Given the description of an element on the screen output the (x, y) to click on. 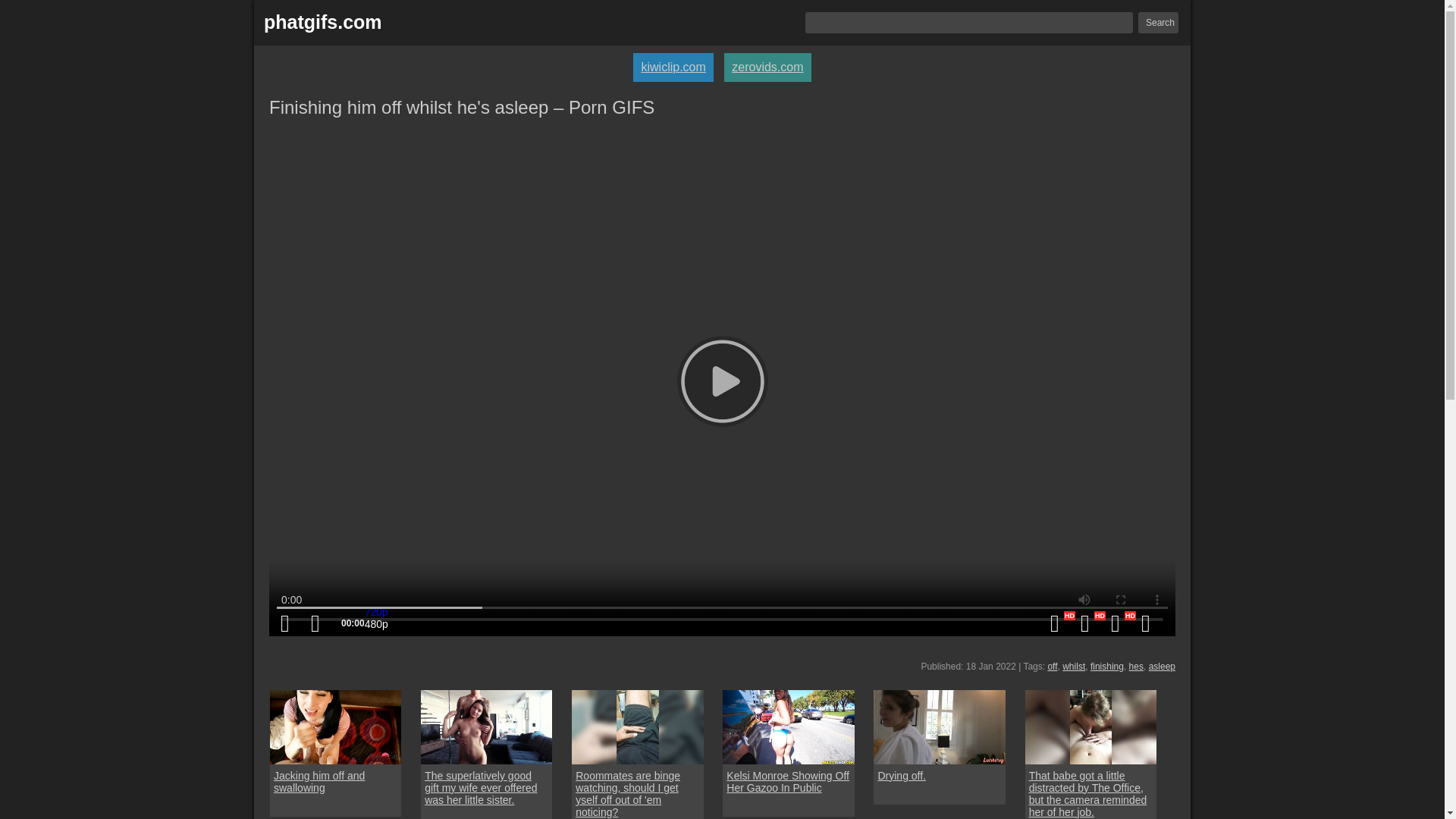
off (1051, 665)
kiwiclip.com (673, 67)
finishing (1107, 665)
whilst (1073, 665)
Jacking him off and swallowing (335, 781)
Drying off. (938, 726)
hes (1135, 665)
phatgifs.com (322, 22)
asleep (1161, 665)
Search (1158, 22)
